Given the description of an element on the screen output the (x, y) to click on. 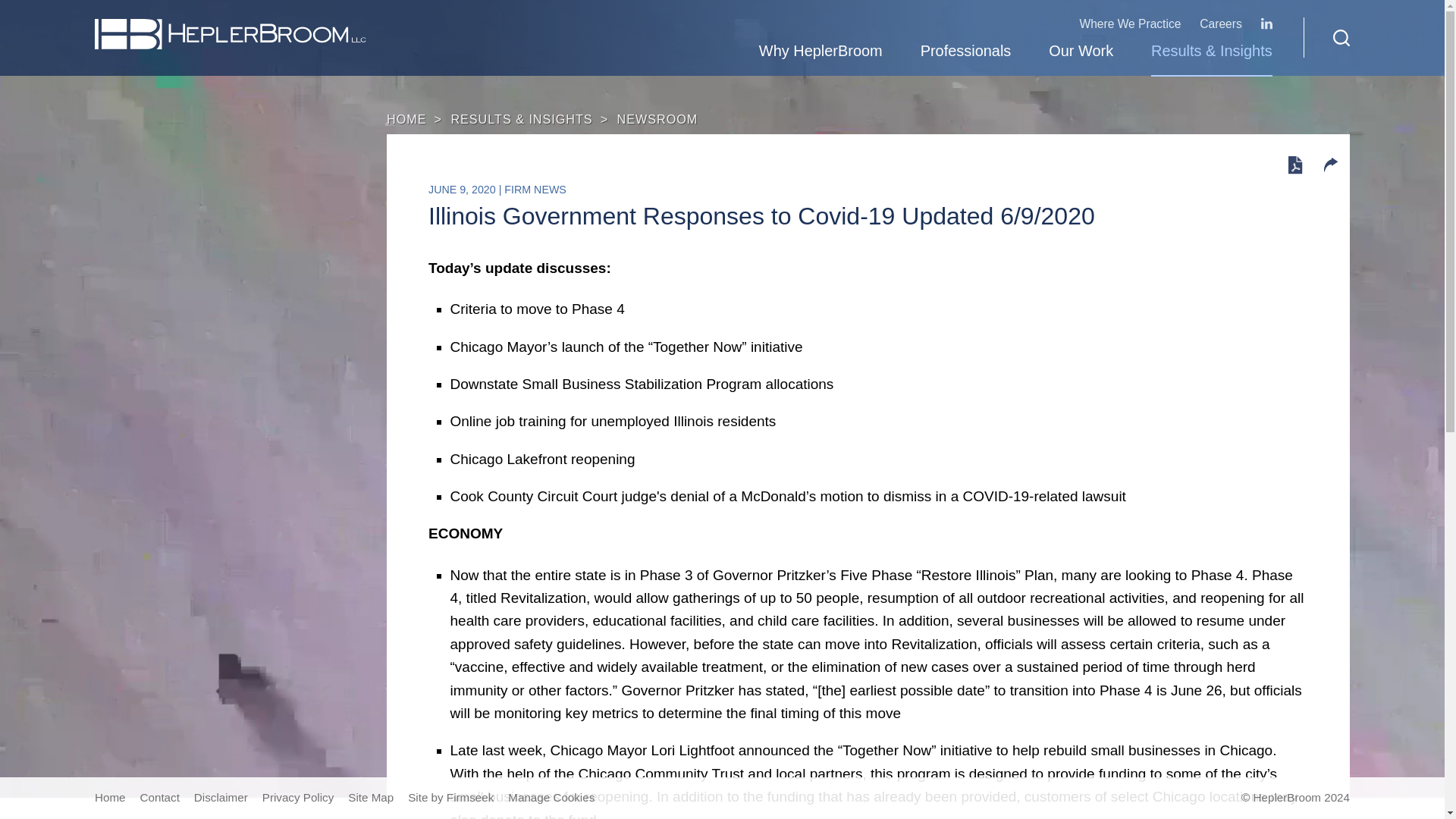
Our Work (1080, 53)
Menu (674, 19)
Main Menu (674, 19)
Cookie Settings (660, 19)
Main Content (667, 19)
Share (1330, 166)
Why HeplerBroom (820, 53)
Professionals (965, 53)
Share (1330, 164)
Search (1341, 37)
